Given the description of an element on the screen output the (x, y) to click on. 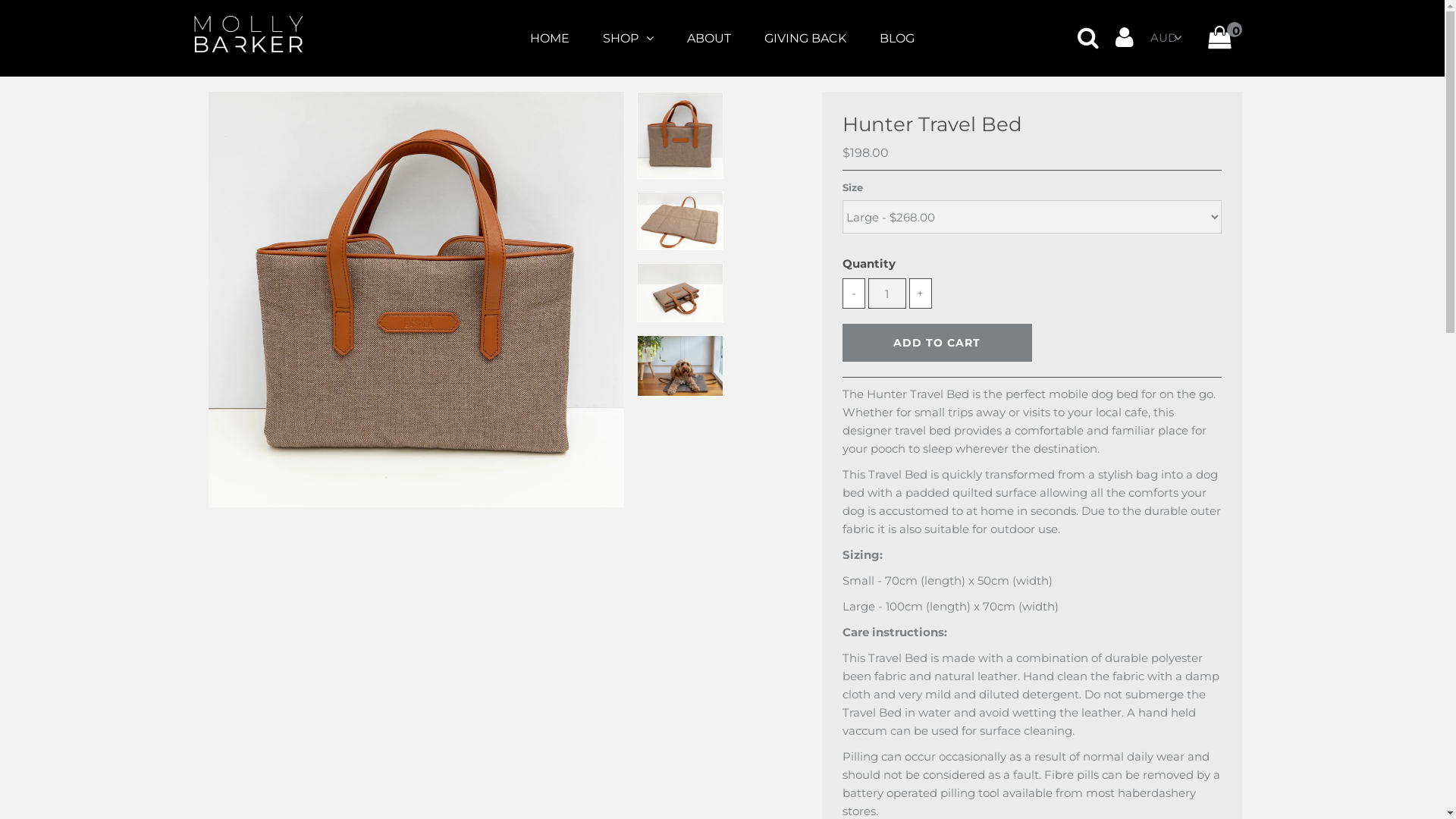
  0 Element type: text (1220, 40)
SHOP Element type: text (627, 38)
Add to Cart Element type: text (937, 342)
Hunter Travel Bed Element type: hover (416, 299)
+ Element type: text (920, 293)
ABOUT Element type: text (708, 38)
GIVING BACK Element type: text (805, 38)
- Element type: text (853, 293)
BLOG Element type: text (896, 38)
HOME Element type: text (549, 38)
